Given the description of an element on the screen output the (x, y) to click on. 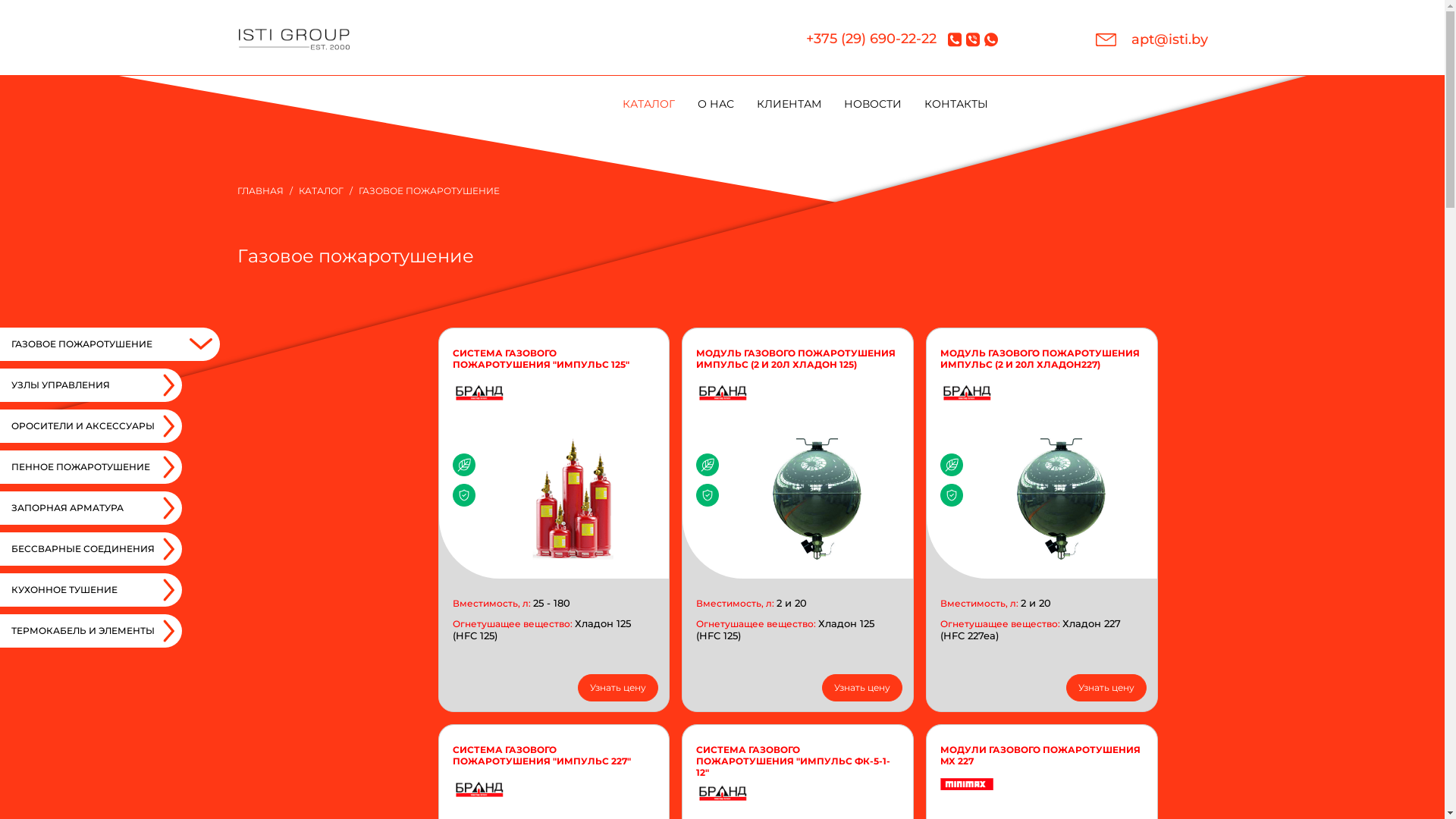
+375 (29) 690-22-22 Element type: text (870, 38)
apt@isti.by Element type: text (1150, 39)
